Given the description of an element on the screen output the (x, y) to click on. 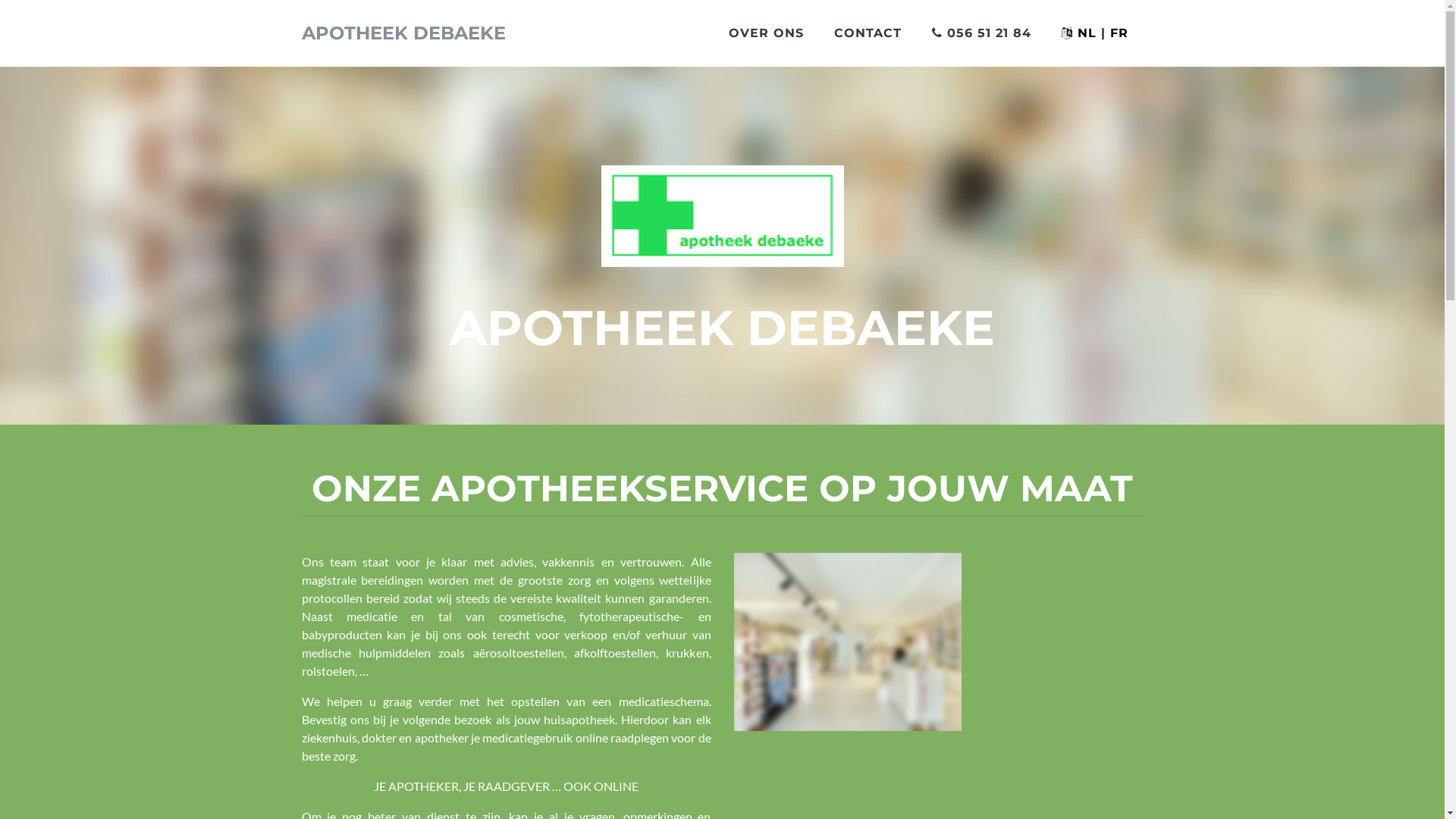
NL Element type: text (1085, 32)
OVER ONS Element type: text (765, 33)
CONTACT Element type: text (867, 33)
FR Element type: text (1119, 32)
056 51 21 84 Element type: text (980, 33)
APOTHEEK DEBAEKE Element type: text (403, 32)
